Given the description of an element on the screen output the (x, y) to click on. 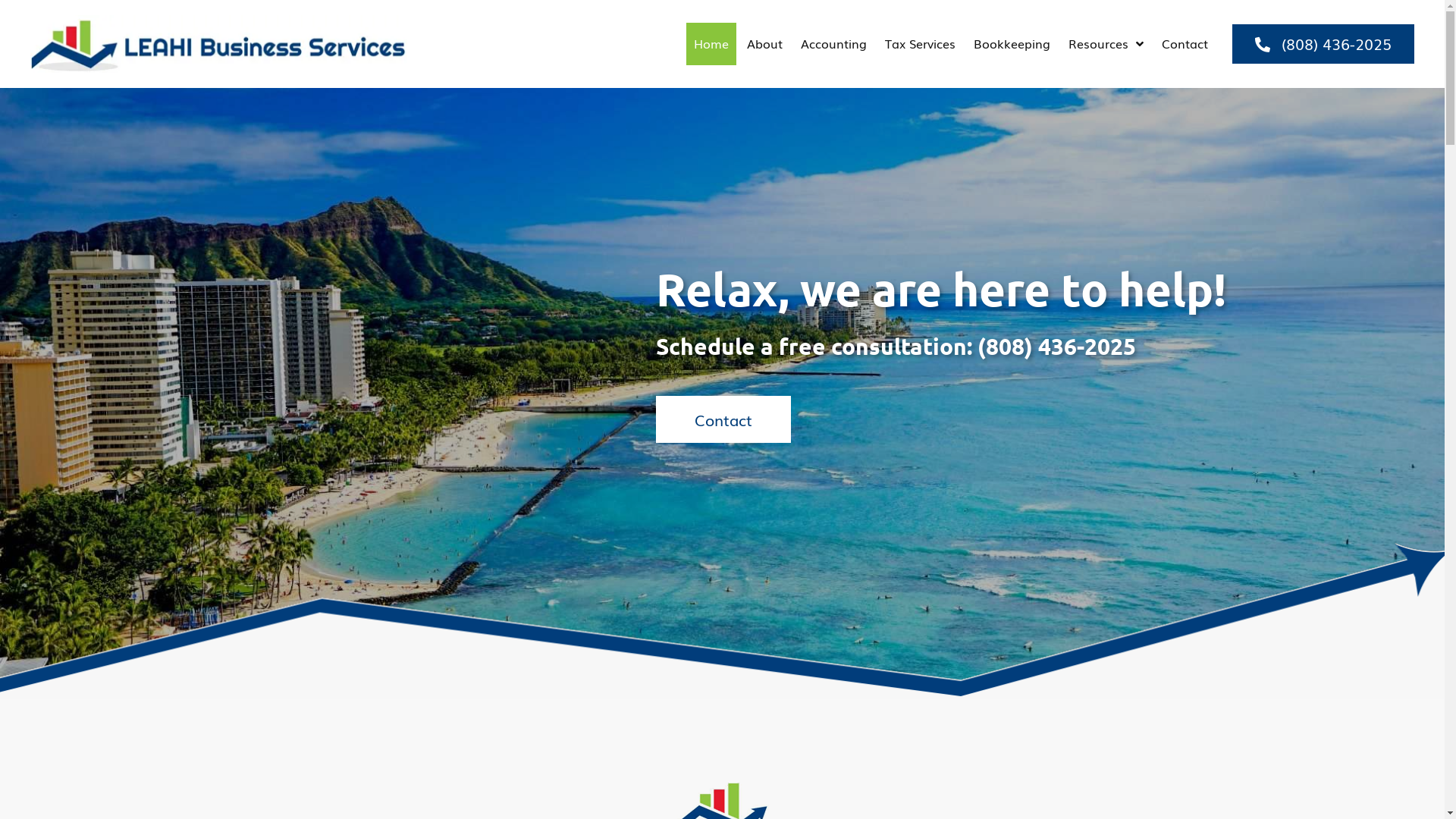
About Element type: text (764, 43)
(808) 436-2025 Element type: text (1323, 43)
Contact Element type: text (722, 418)
Accounting Element type: text (833, 43)
Contact Element type: text (1184, 43)
Home Element type: text (711, 43)
Resources Element type: text (1105, 43)
Tax Services Element type: text (920, 43)
Bookkeeping Element type: text (1011, 43)
